Given the description of an element on the screen output the (x, y) to click on. 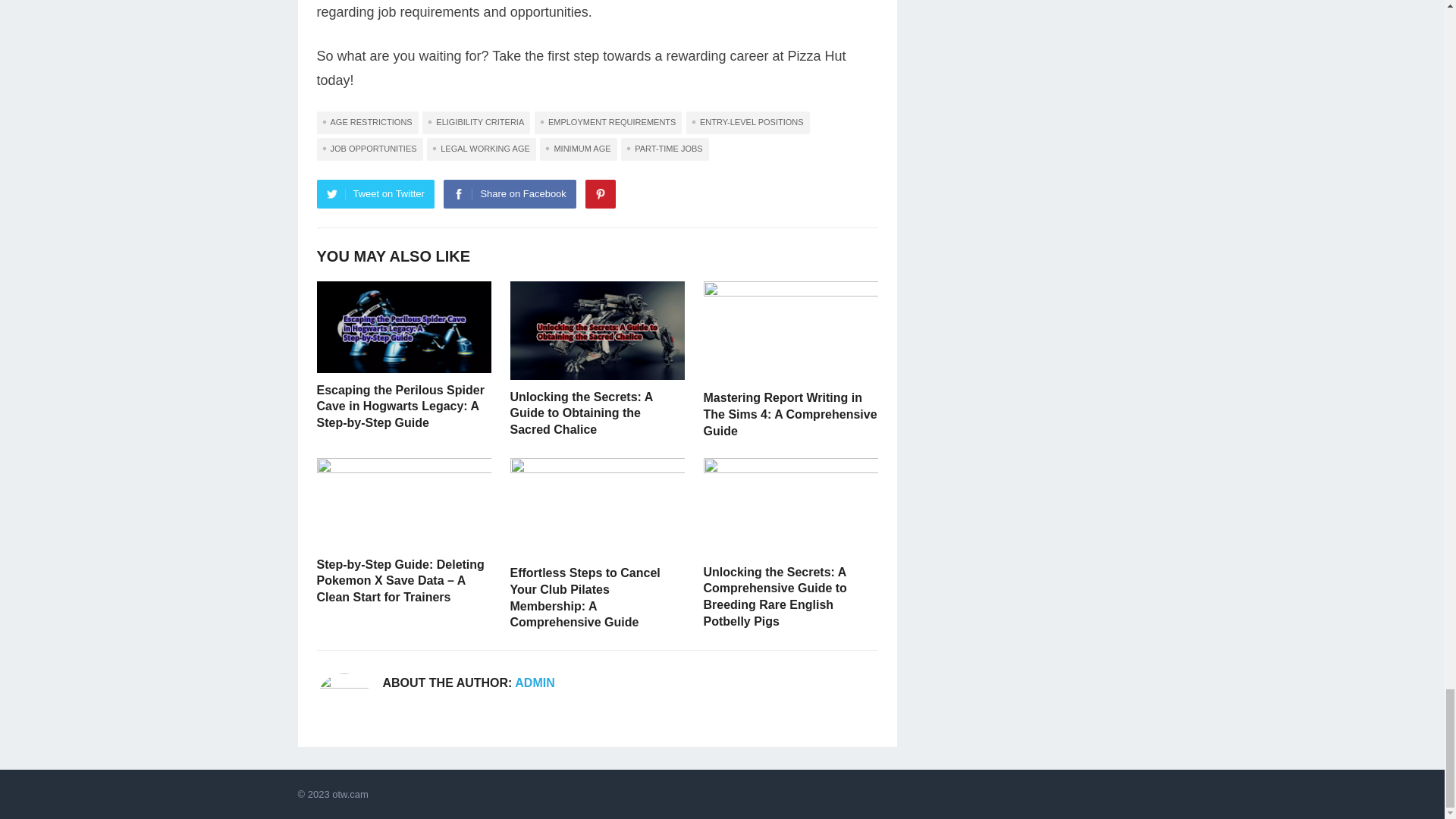
AGE RESTRICTIONS (368, 122)
Tweet on Twitter (375, 193)
ELIGIBILITY CRITERIA (475, 122)
ENTRY-LEVEL POSITIONS (747, 122)
LEGAL WORKING AGE (480, 149)
MINIMUM AGE (577, 149)
Share on Facebook (509, 193)
EMPLOYMENT REQUIREMENTS (608, 122)
Pinterest (600, 193)
PART-TIME JOBS (664, 149)
JOB OPPORTUNITIES (370, 149)
